Given the description of an element on the screen output the (x, y) to click on. 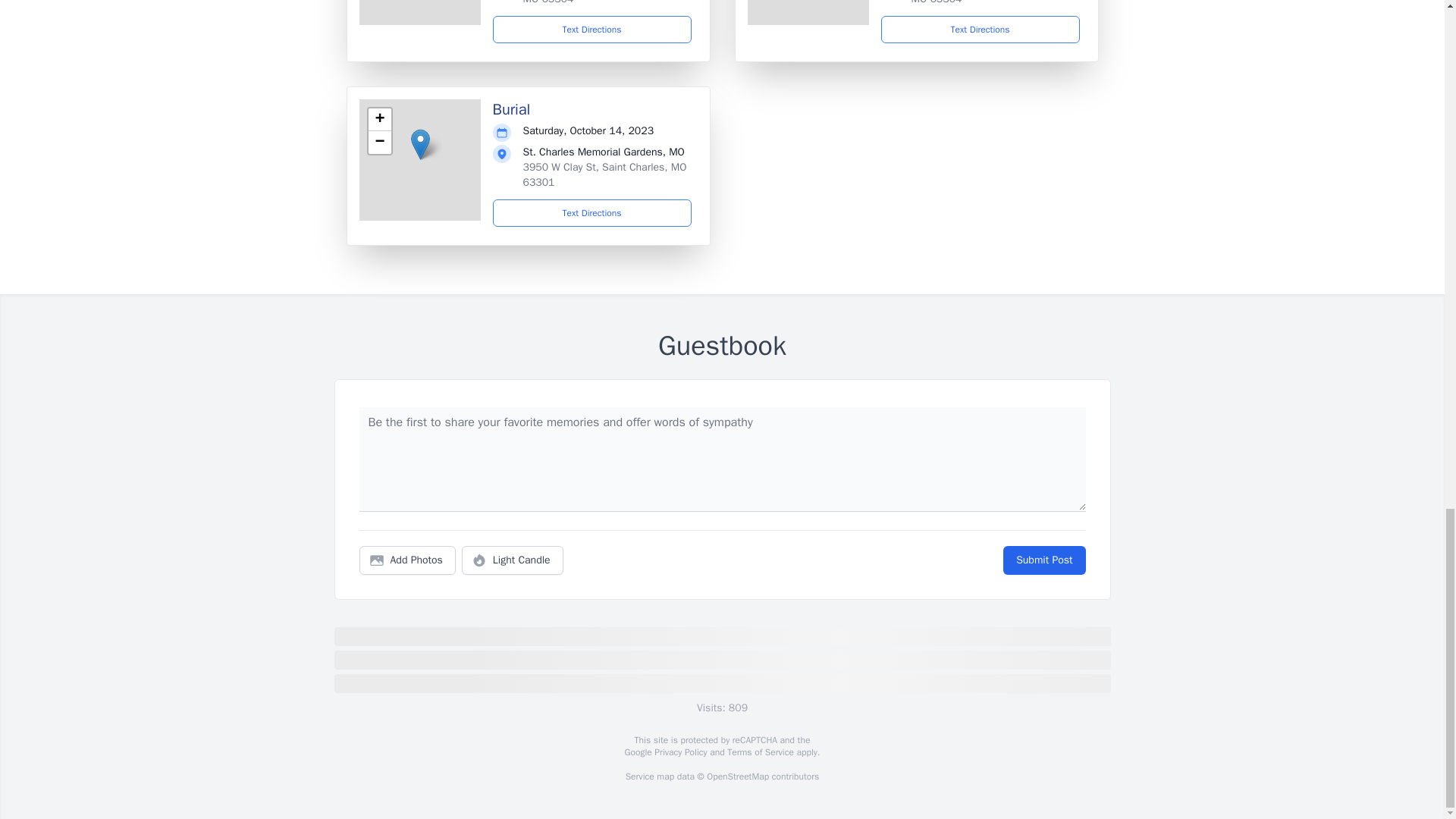
4075 Old Hwy 94 S, Saint Charles, MO 63304 (603, 2)
Text Directions (592, 29)
4075 Old Hwy 94 S, Saint Charles, MO 63304 (992, 2)
Zoom out (379, 142)
3950 W Clay St, Saint Charles, MO 63301 (604, 174)
Text Directions (980, 29)
Zoom in (379, 119)
Add Photos (407, 560)
Light Candle (512, 560)
Text Directions (592, 212)
